Given the description of an element on the screen output the (x, y) to click on. 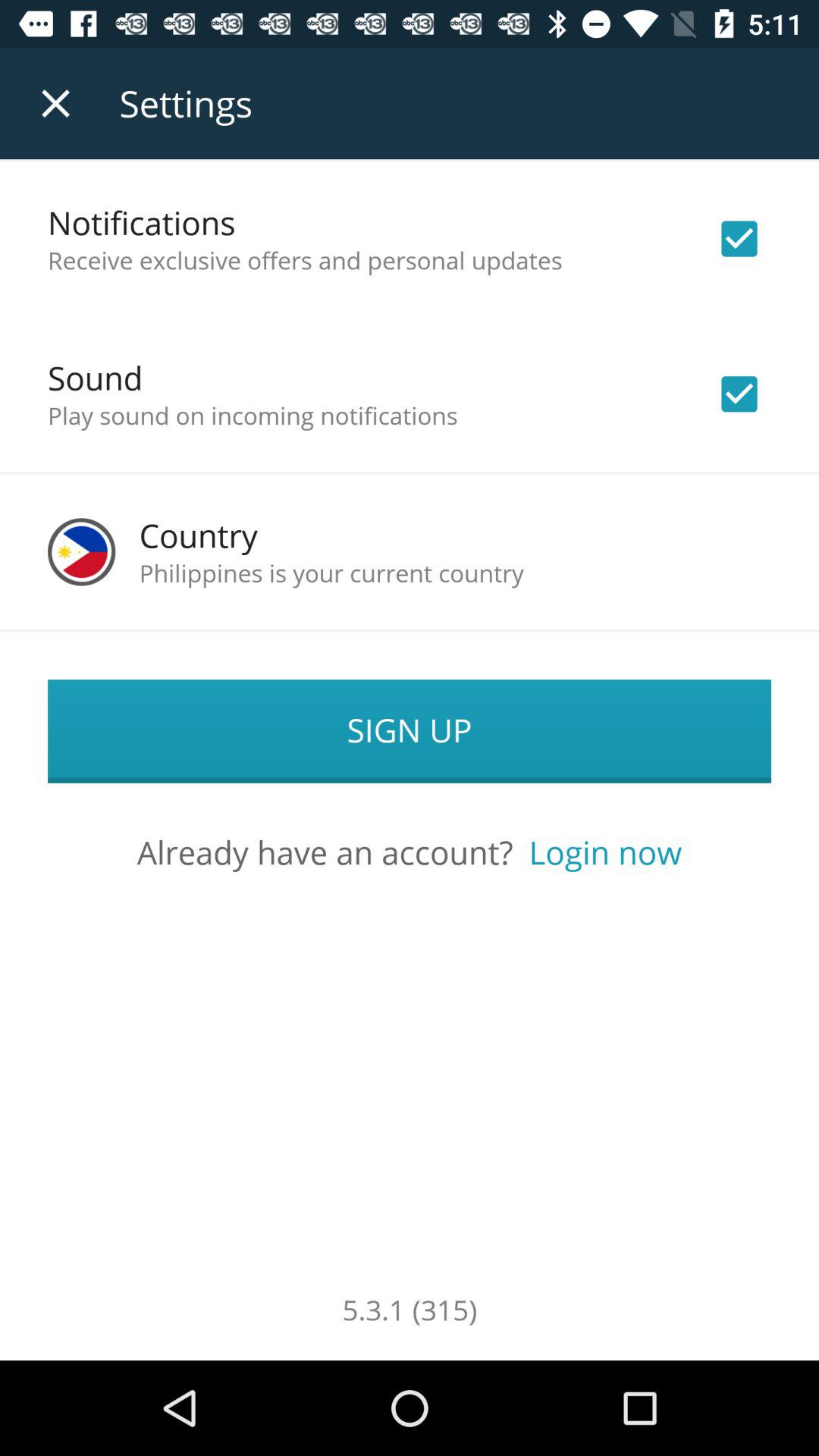
swipe to the sign up (409, 731)
